Given the description of an element on the screen output the (x, y) to click on. 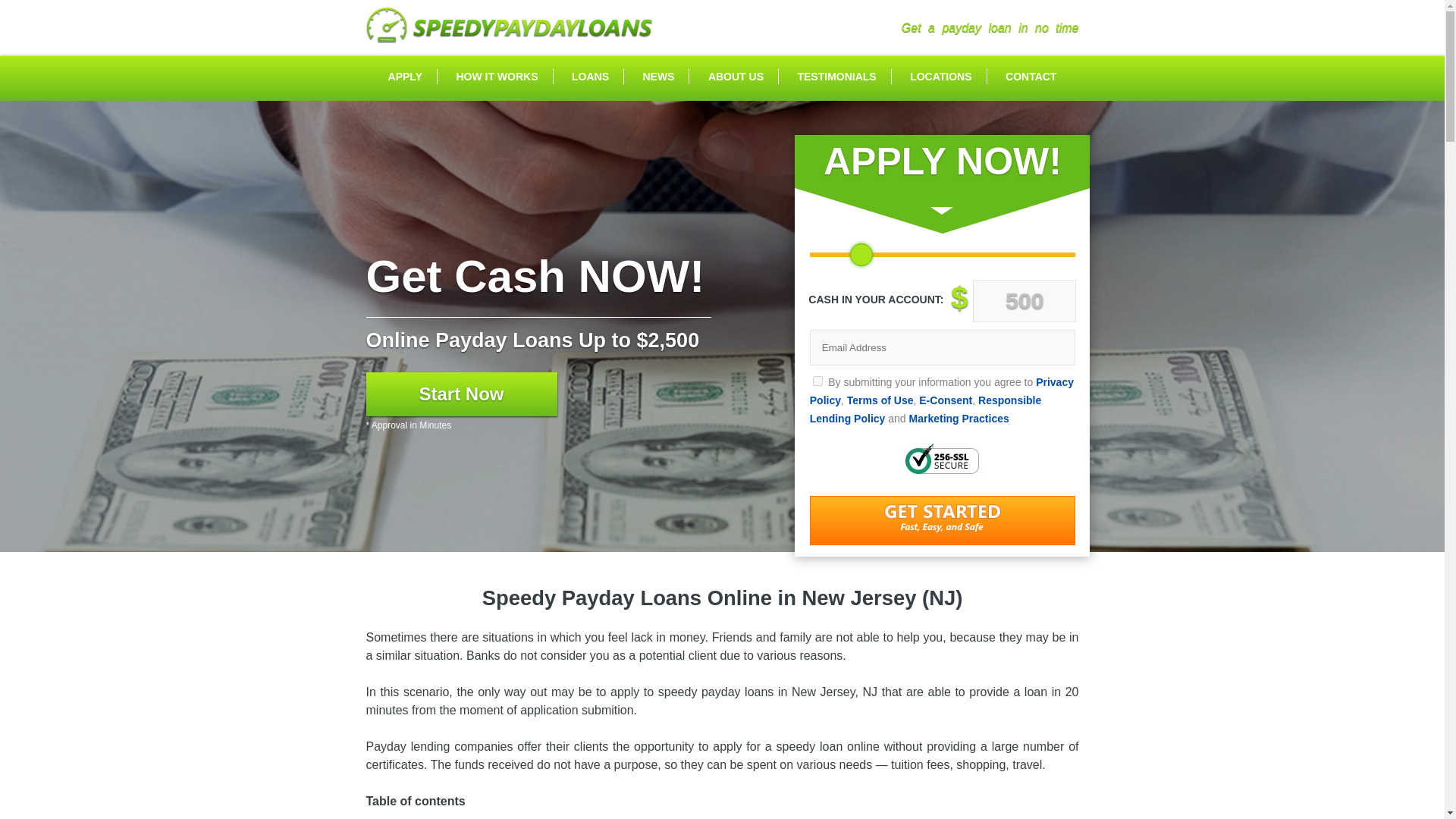
Privacy Policy (941, 390)
LOCATIONS (940, 76)
Terms of use (880, 399)
NEWS (658, 76)
CONTACT (1031, 76)
yes (817, 380)
Start Now (460, 394)
Responsible Lending Policy (925, 409)
Privacy Policy (941, 390)
ABOUT US (734, 76)
E-Consent (945, 399)
APPLY (405, 76)
Marketing Practices (958, 418)
Terms of Use (880, 399)
TESTIMONIALS (836, 76)
